Given the description of an element on the screen output the (x, y) to click on. 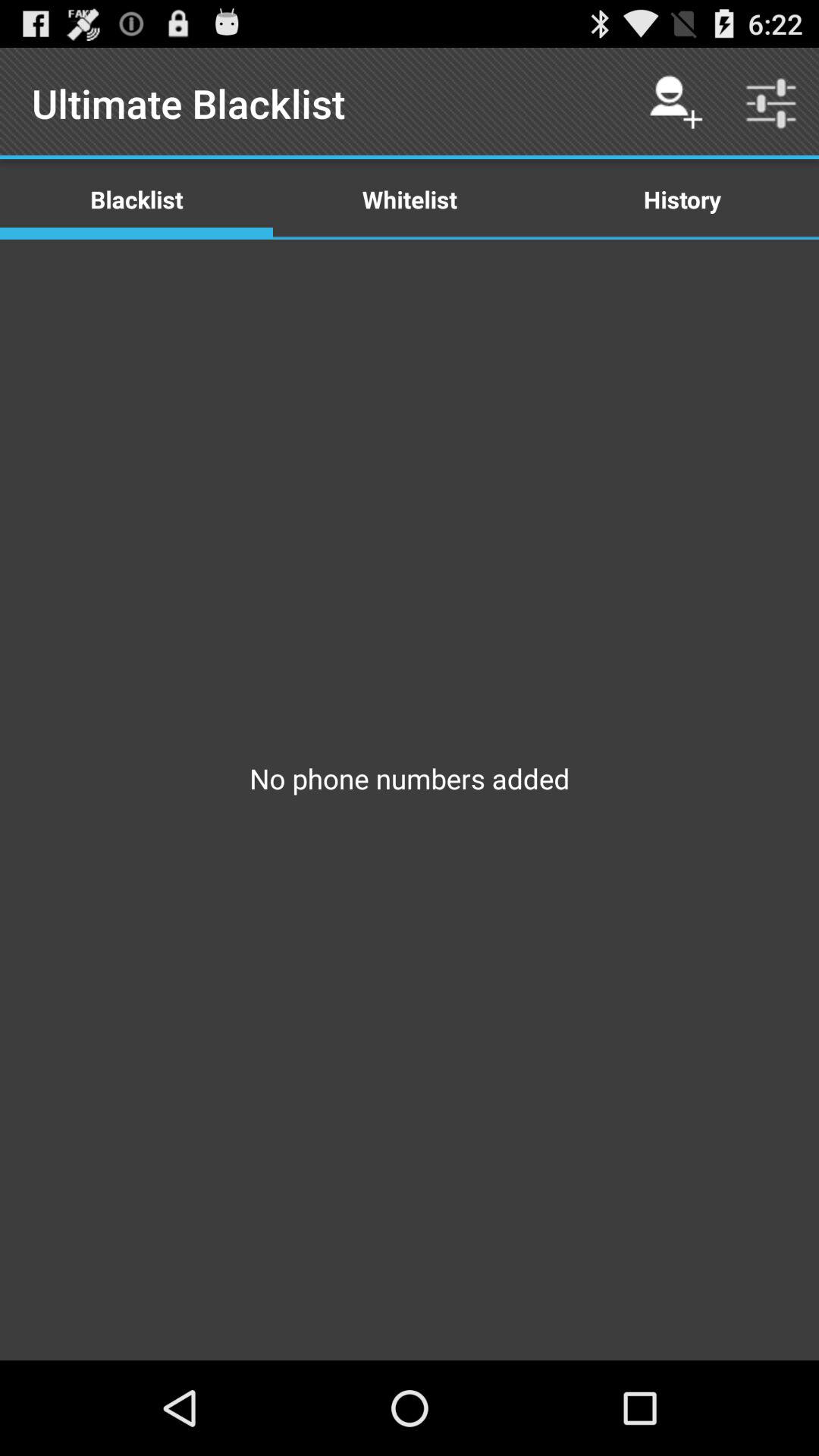
turn off the app below ultimate blacklist app (409, 199)
